Given the description of an element on the screen output the (x, y) to click on. 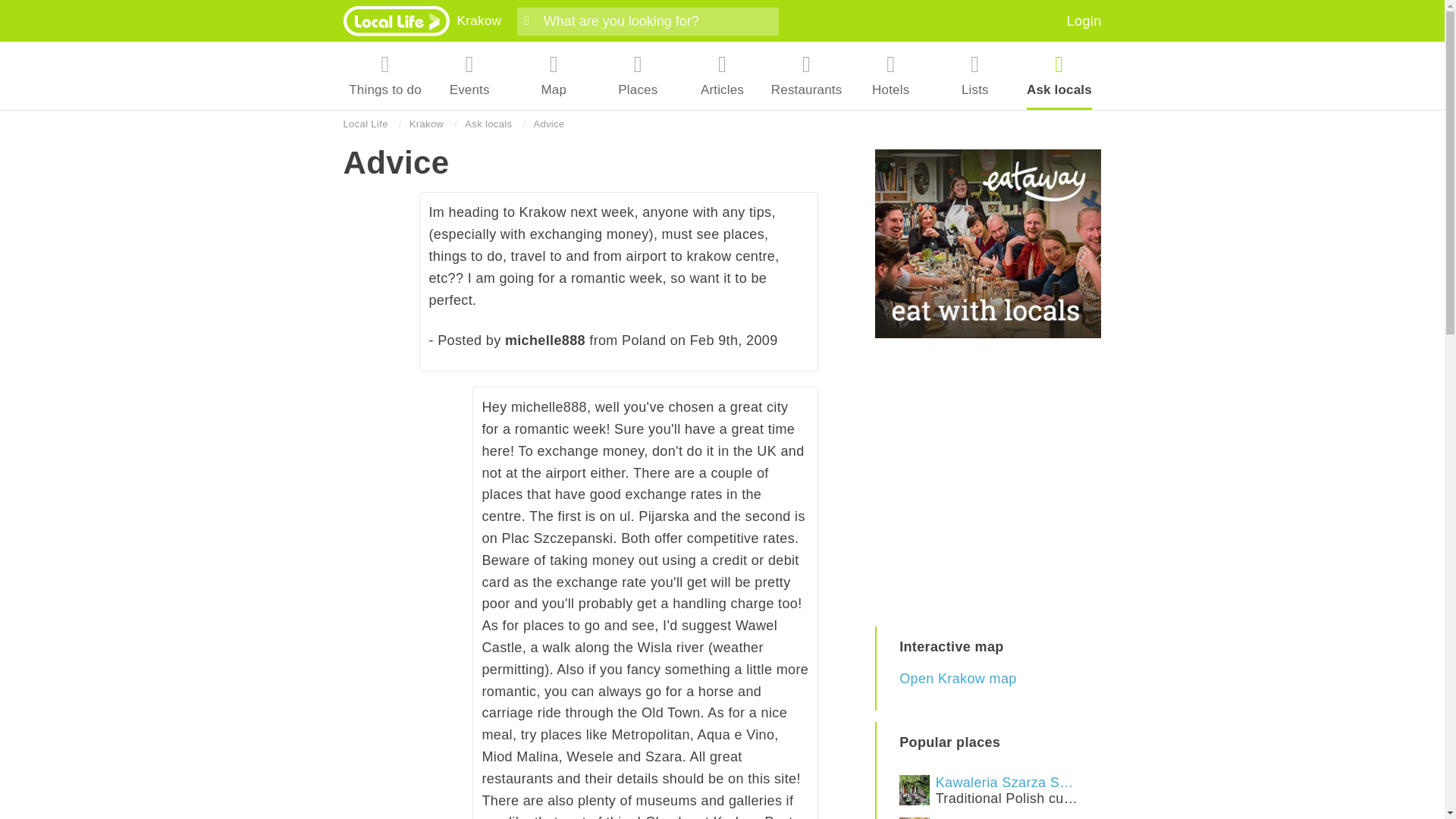
Ask locals (488, 124)
Restaurants (807, 75)
Ask locals (1059, 75)
Krakow (988, 815)
Local Life (478, 20)
Krakow (364, 124)
Things to do (426, 124)
Login (385, 75)
Open Krakow map (1084, 20)
